Given the description of an element on the screen output the (x, y) to click on. 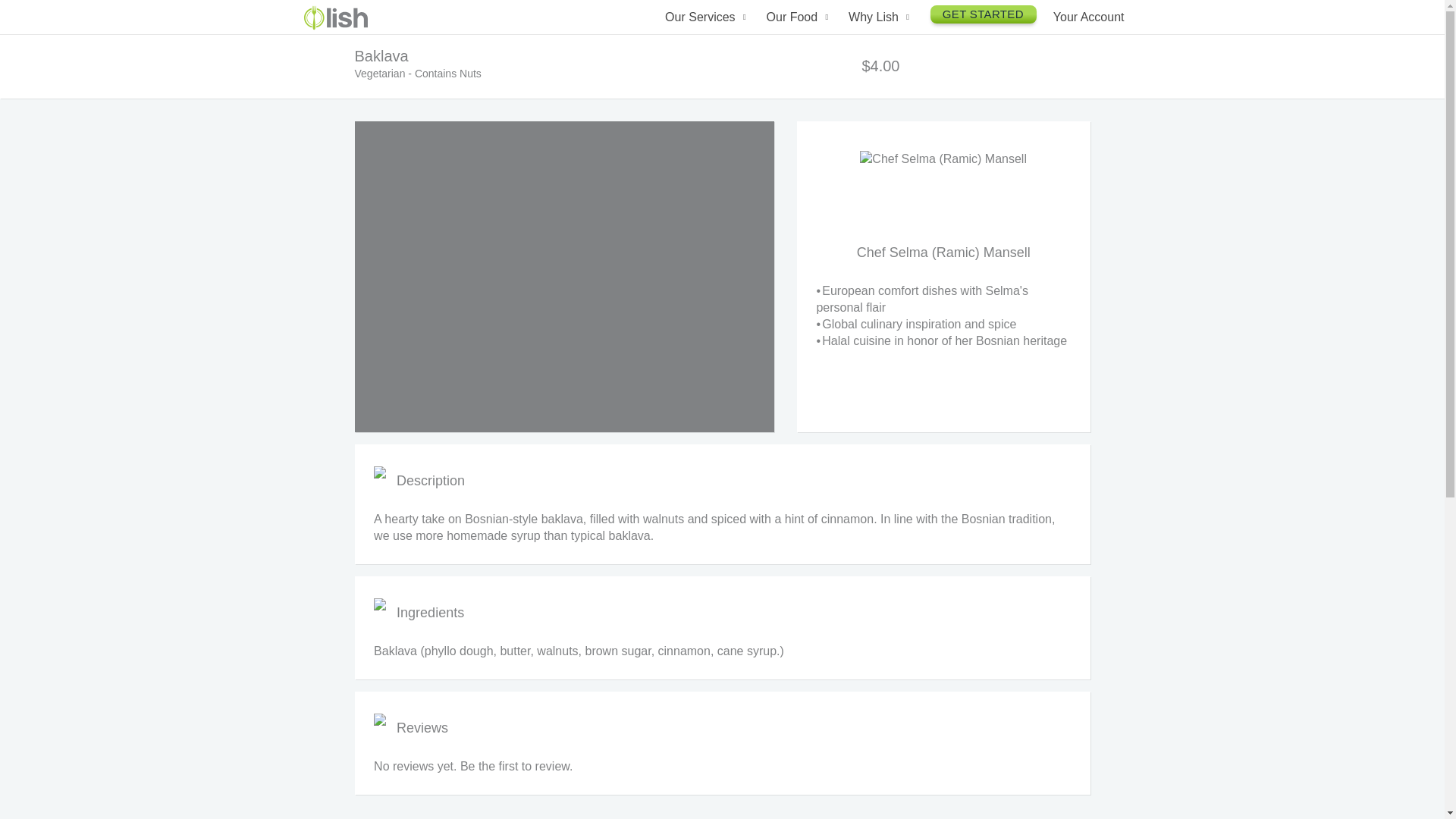
Partner Chefs (849, 60)
Subscription Catering (795, 57)
Customer Stories (932, 204)
FAQ (932, 236)
Why Lish (881, 17)
Why Offer a Workplace Food Program (932, 100)
Catering On-Demand (795, 156)
About Us (932, 60)
Our Food (799, 17)
Browse Menus (849, 92)
